Given the description of an element on the screen output the (x, y) to click on. 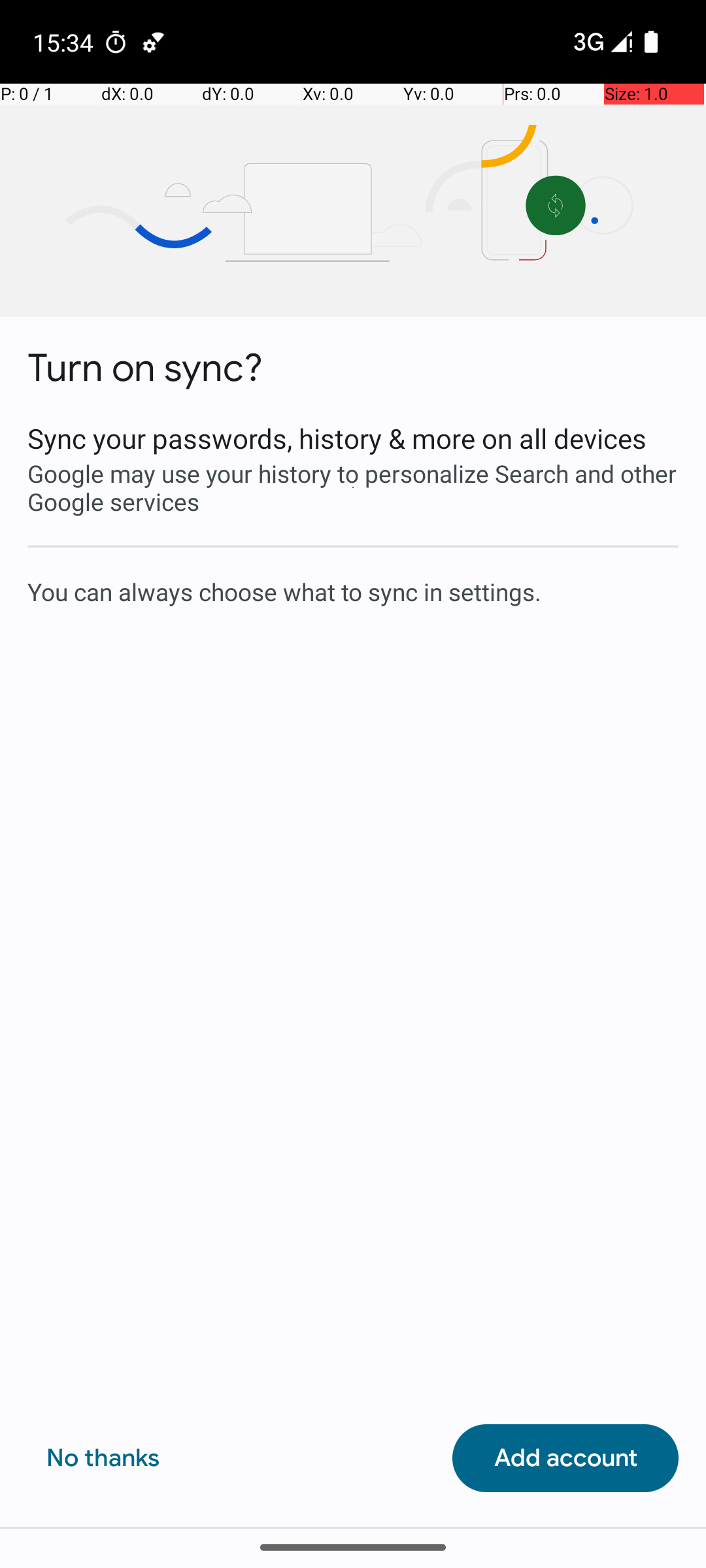
Android System notification: Wi‑Fi will turn on automatically Element type: android.widget.ImageView (153, 41)
